Given the description of an element on the screen output the (x, y) to click on. 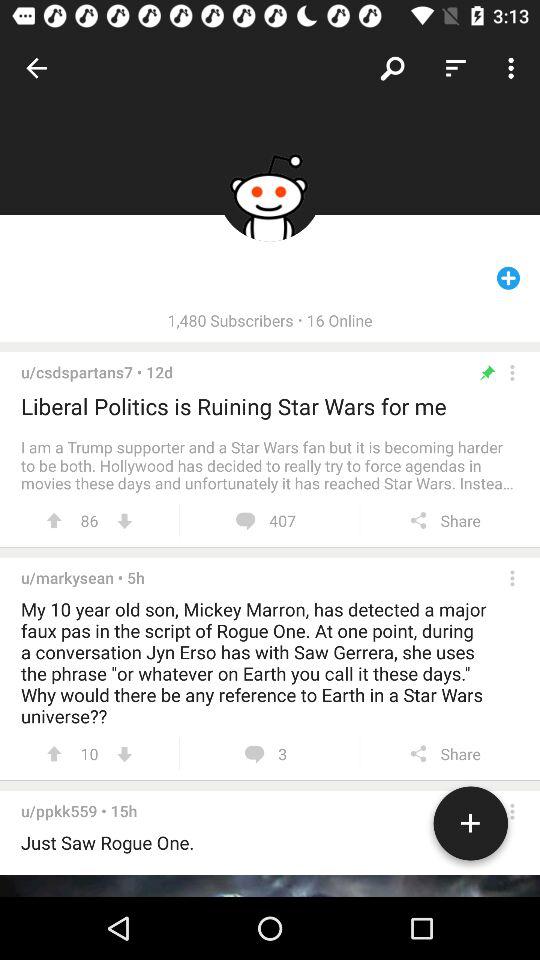
press icon above the 16 online (392, 67)
